Given the description of an element on the screen output the (x, y) to click on. 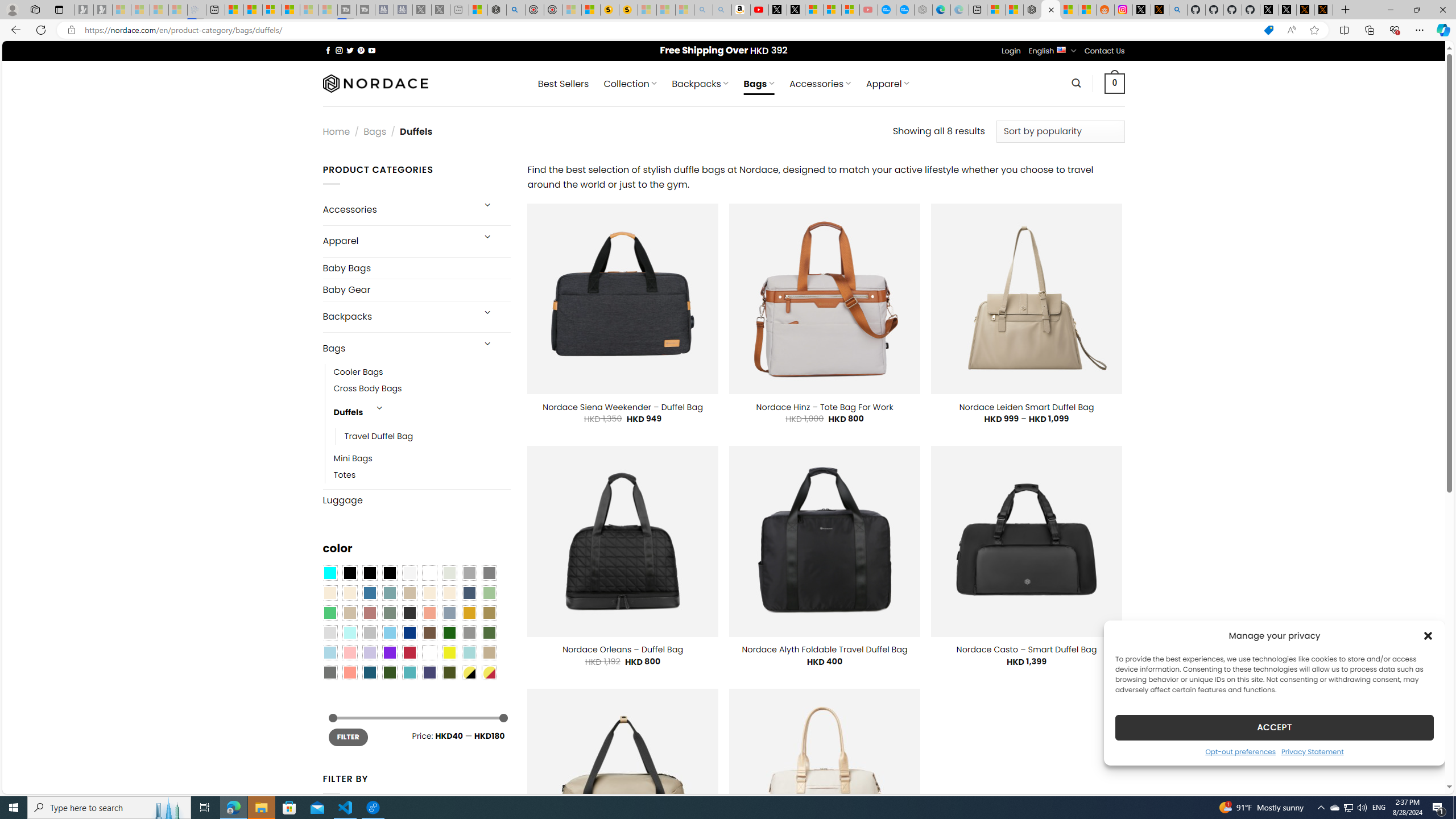
This site has coupons! Shopping in Microsoft Edge (1268, 29)
Baby Bags (416, 267)
Login (1010, 50)
Duffels (348, 412)
Opinion: Op-Ed and Commentary - USA TODAY (887, 9)
Pink (349, 652)
Khaki (488, 652)
Overview (271, 9)
